Given the description of an element on the screen output the (x, y) to click on. 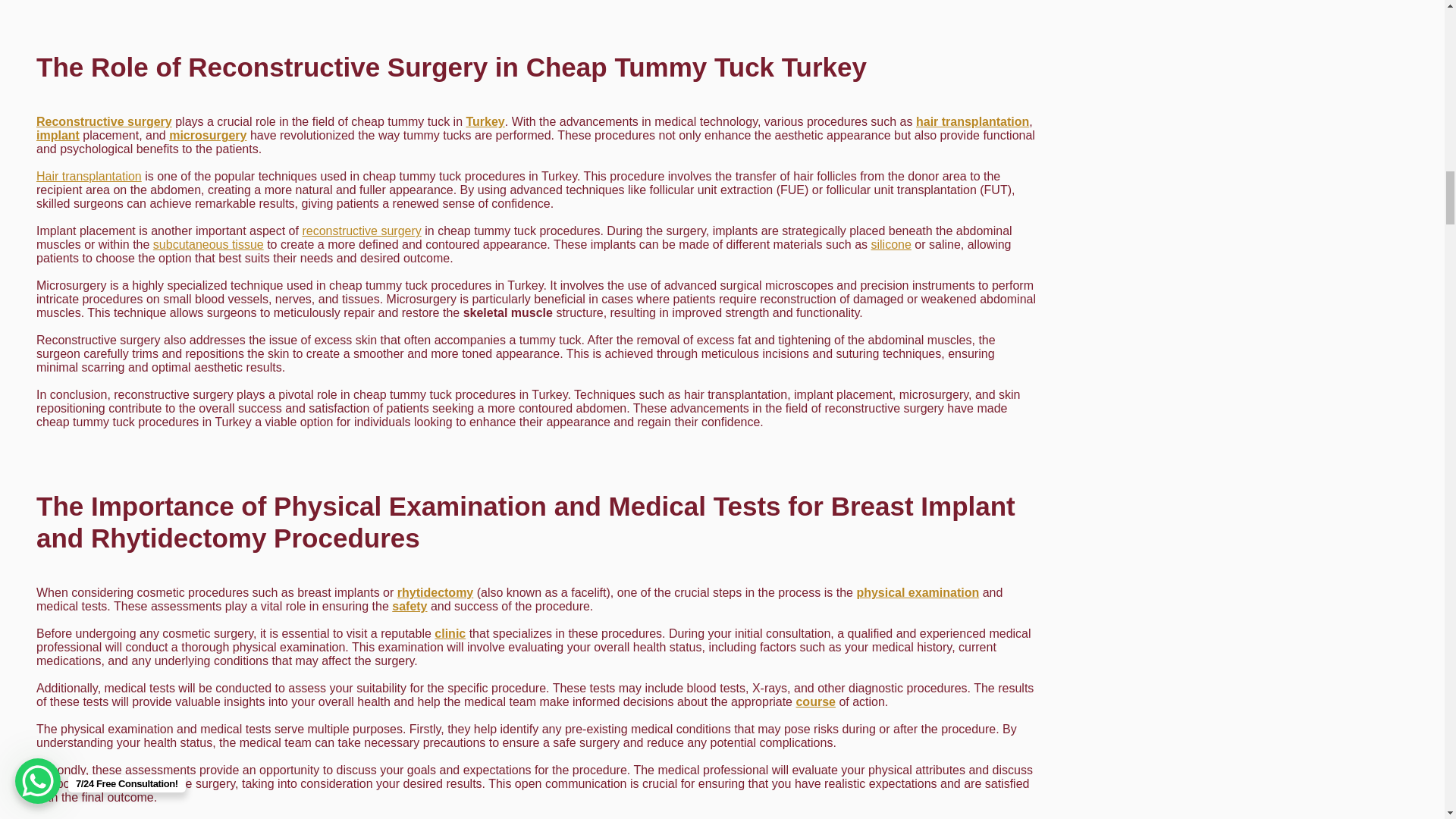
Hair transplantation (88, 175)
silicone (890, 244)
reconstructive surgery (360, 230)
subcutaneous tissue (207, 244)
